Given the description of an element on the screen output the (x, y) to click on. 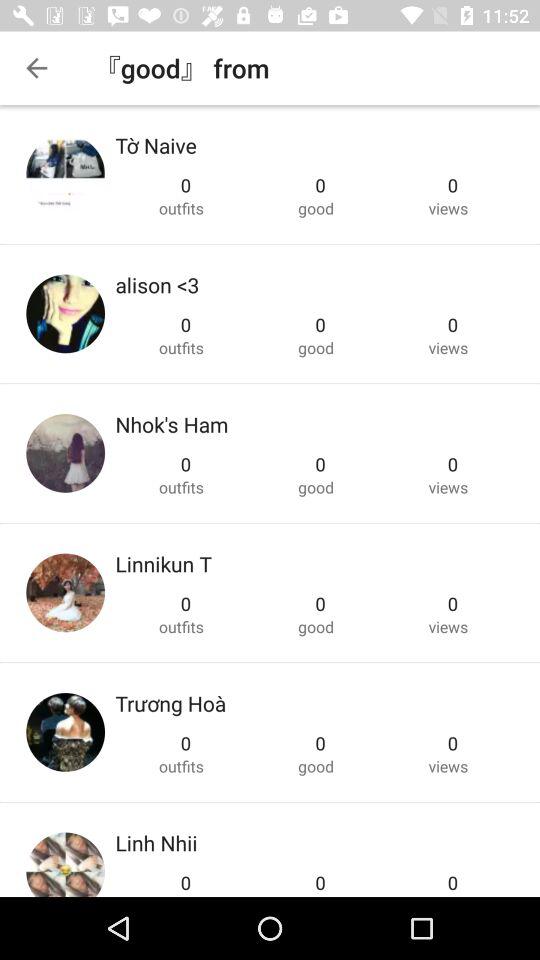
turn off the item below outfits icon (170, 703)
